Given the description of an element on the screen output the (x, y) to click on. 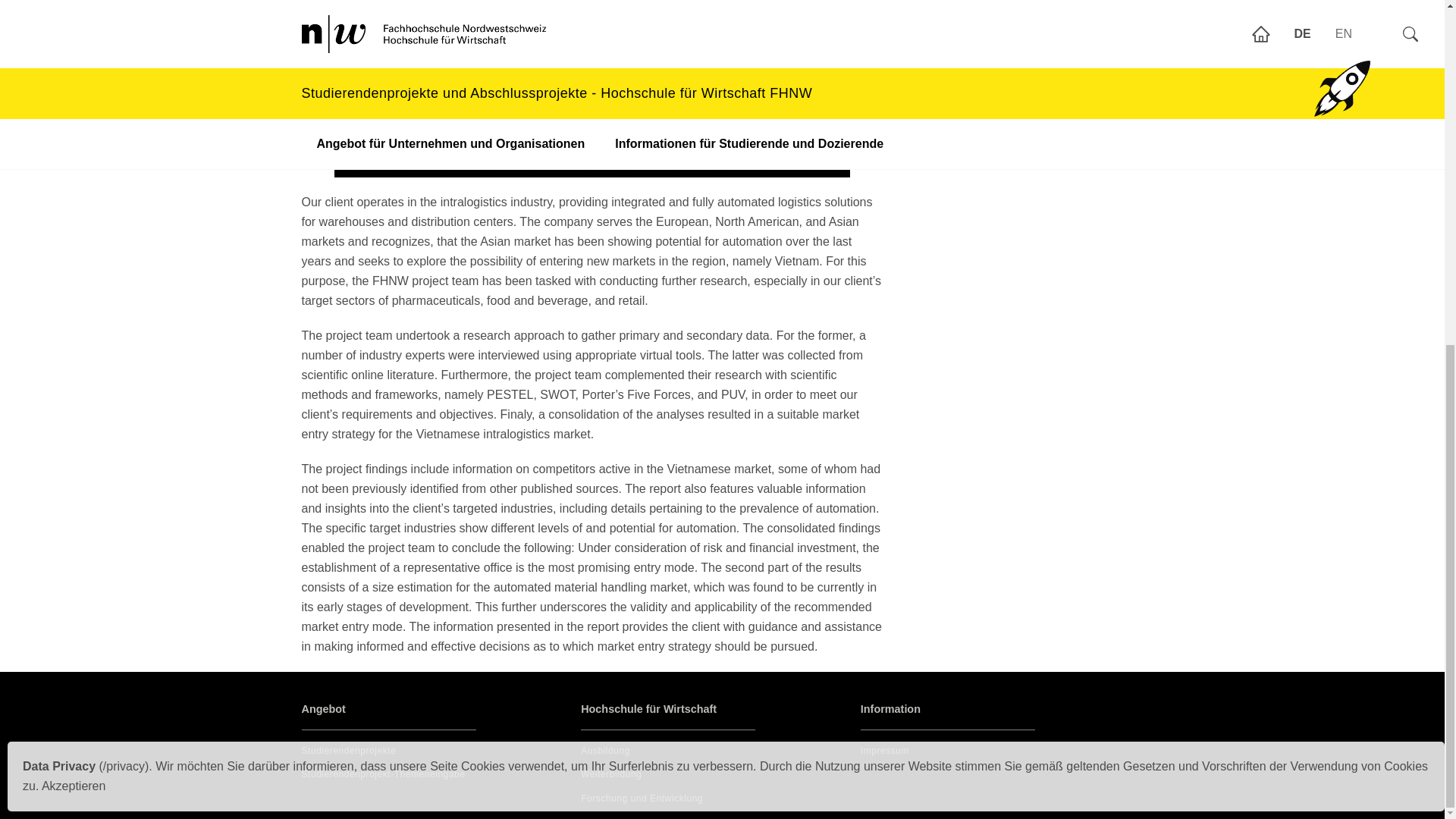
Akzeptieren (74, 195)
Ausbildung (605, 750)
Forschung und Entwicklung (641, 798)
Impressum (884, 750)
Weiterbildung (611, 774)
Studierendenprojekt-Themeneingabe (383, 774)
Studierendenprojekte (348, 750)
